Given the description of an element on the screen output the (x, y) to click on. 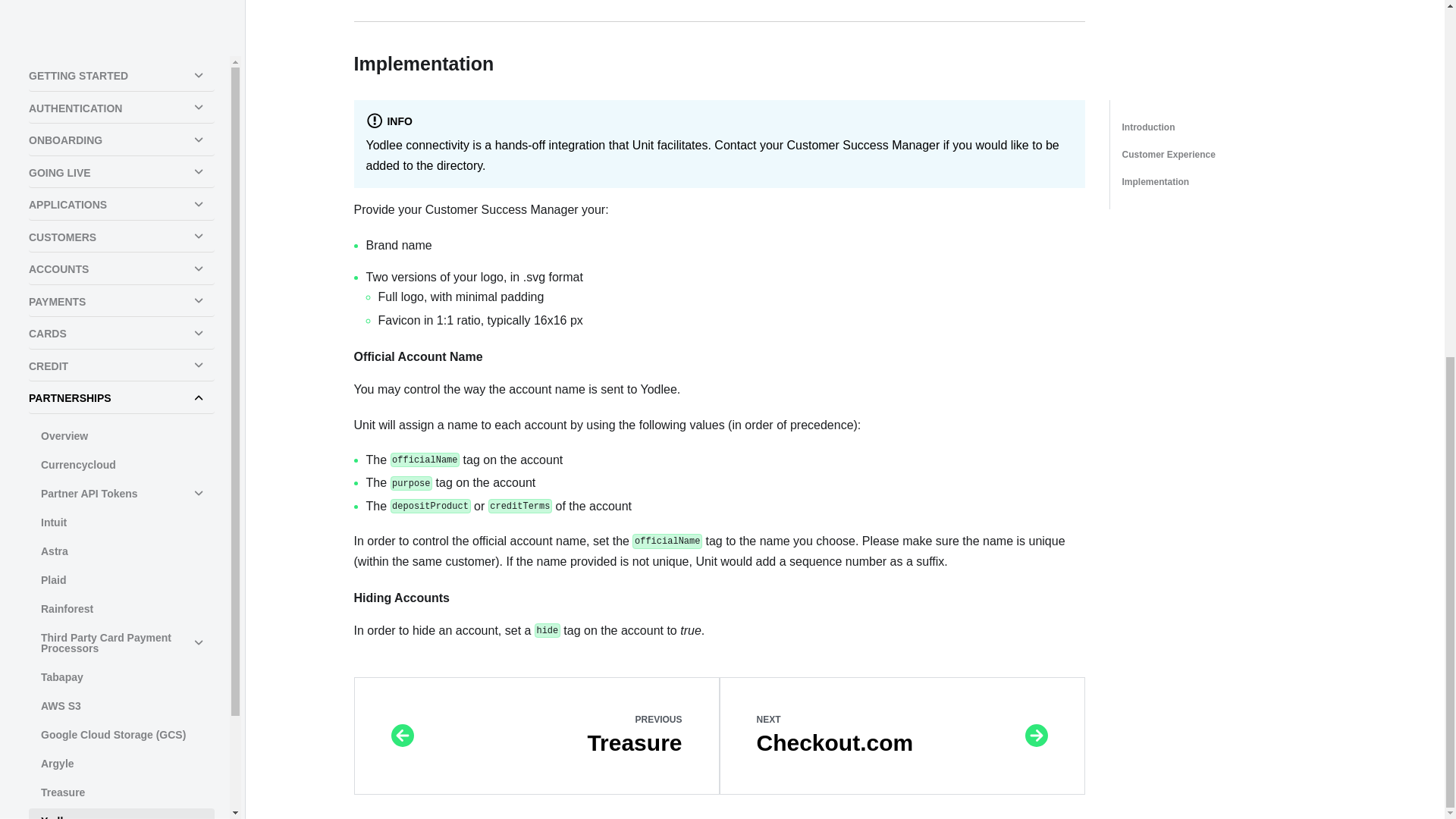
Argyle (121, 190)
AWS S3 (121, 132)
Rainforest (121, 35)
Yodlee (121, 248)
Third Party Card Payment Processors (121, 69)
Plaid (121, 9)
Treasure (121, 218)
Tabapay (121, 103)
